Given the description of an element on the screen output the (x, y) to click on. 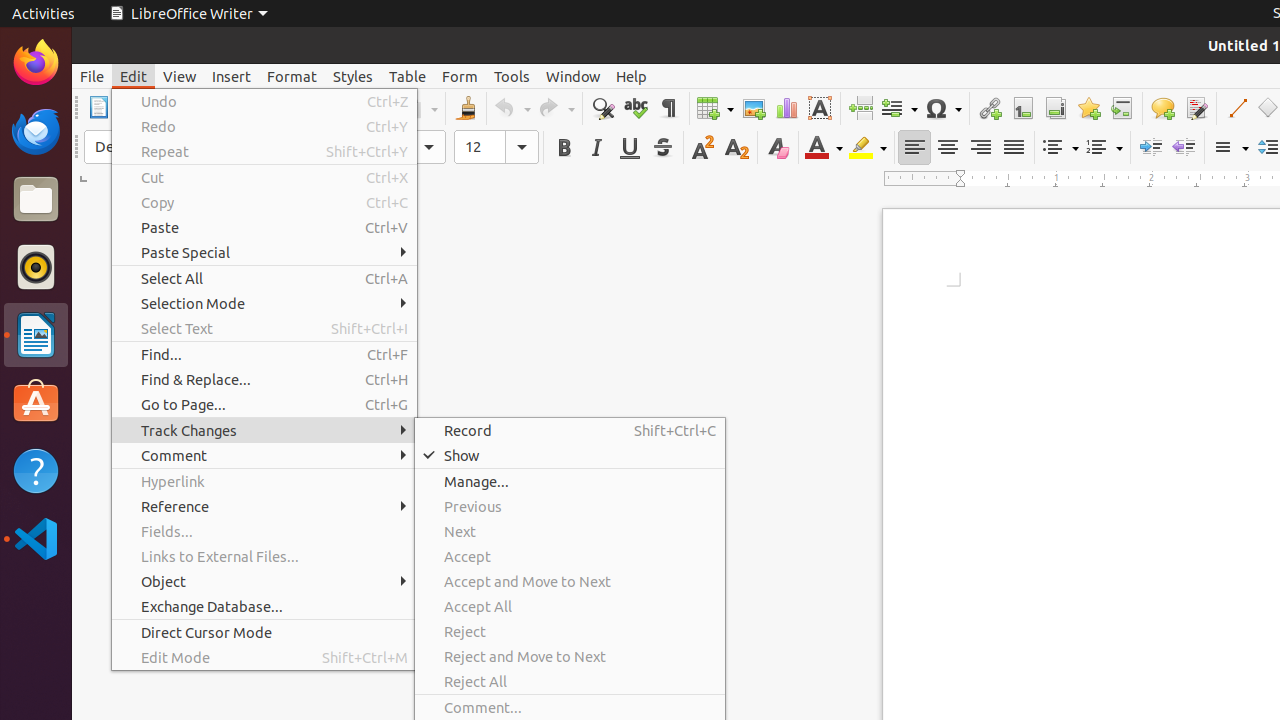
Superscript Element type: toggle-button (703, 147)
Thunderbird Mail Element type: push-button (36, 131)
Edit Mode Element type: menu-item (264, 657)
Paste Special Element type: menu (264, 252)
Italic Element type: toggle-button (596, 147)
